Given the description of an element on the screen output the (x, y) to click on. 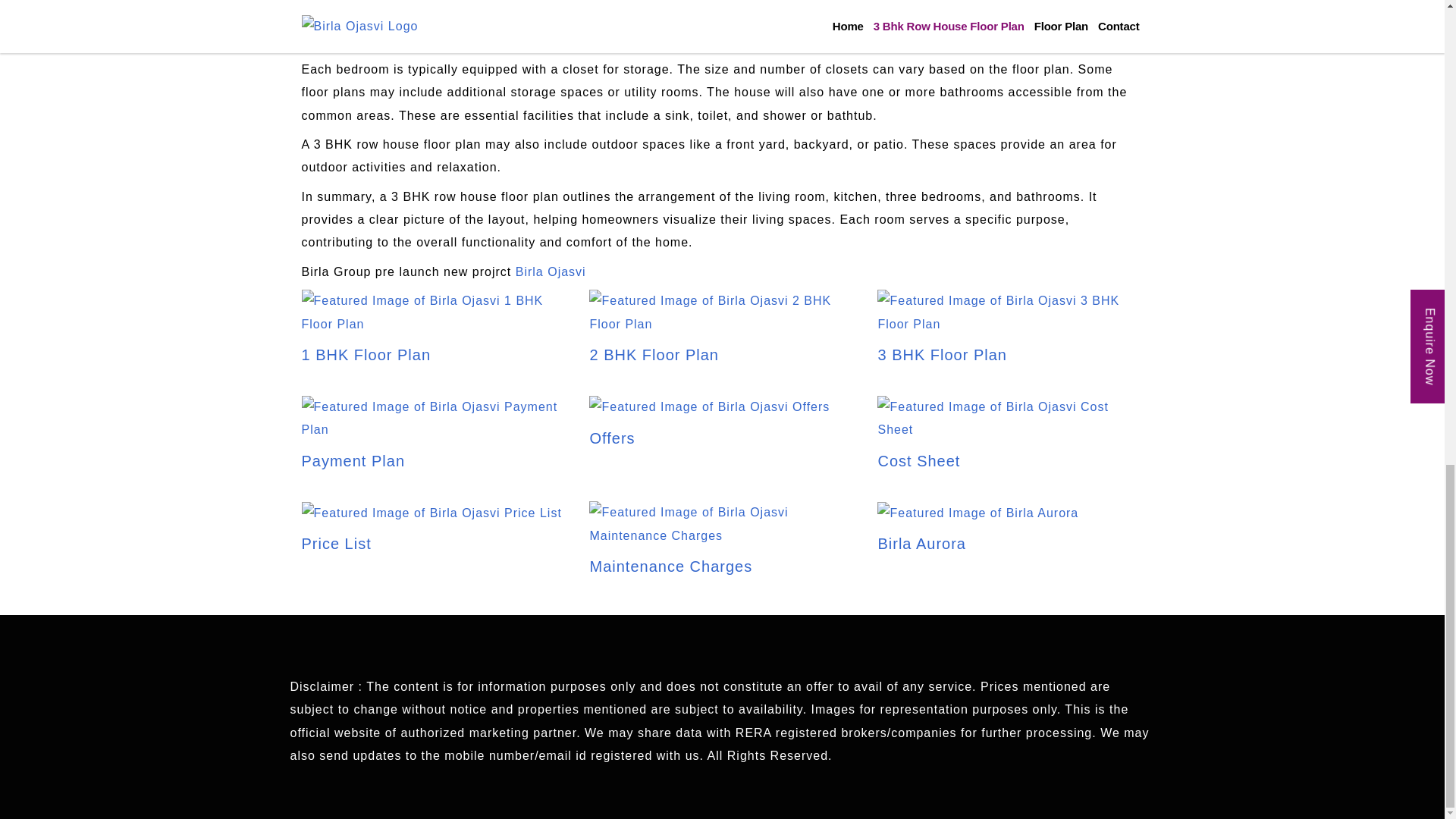
Birla Ojasvi 1 BHK Floor Plan (434, 312)
Birla Ojasvi Offers (709, 422)
Birla Ojasvi 3 BHK Floor Plan (1009, 312)
Birla Ojasvi (550, 271)
Birla Ojasvi Price List (431, 528)
Birla Ojasvi Cost Sheet (1009, 418)
Birla Ojasvi Cost Sheet (1009, 439)
Offers (709, 422)
Birla Ojasvi Price List (431, 513)
2 BHK Floor Plan (721, 333)
Birla Ojasvi Offers (709, 406)
3 BHK Floor Plan (1009, 333)
Payment Plan (434, 439)
Birla Ojasvi 2 BHK Floor Plan (721, 333)
Birla Ojasvi (550, 271)
